Given the description of an element on the screen output the (x, y) to click on. 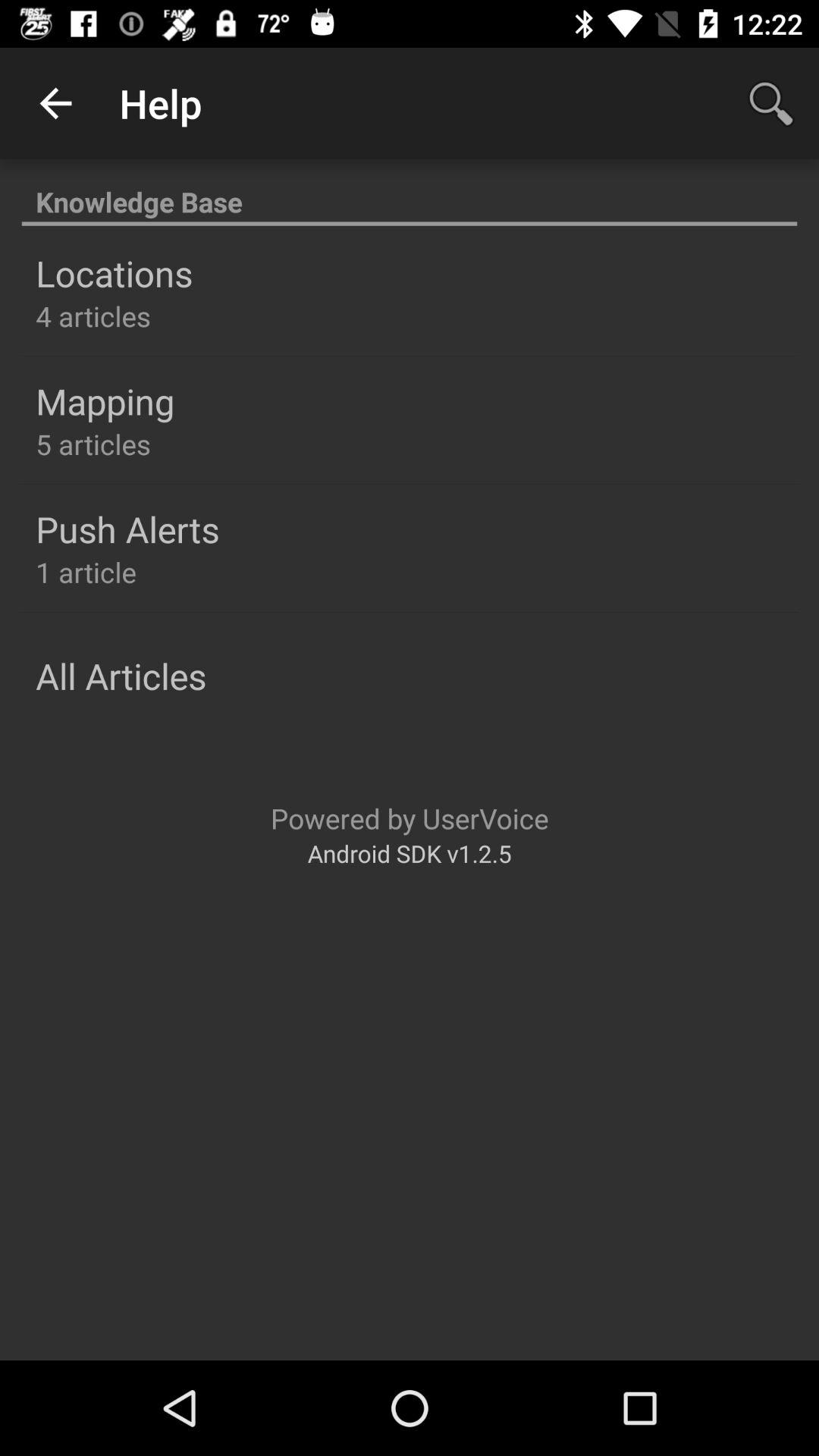
swipe to the locations (113, 273)
